Given the description of an element on the screen output the (x, y) to click on. 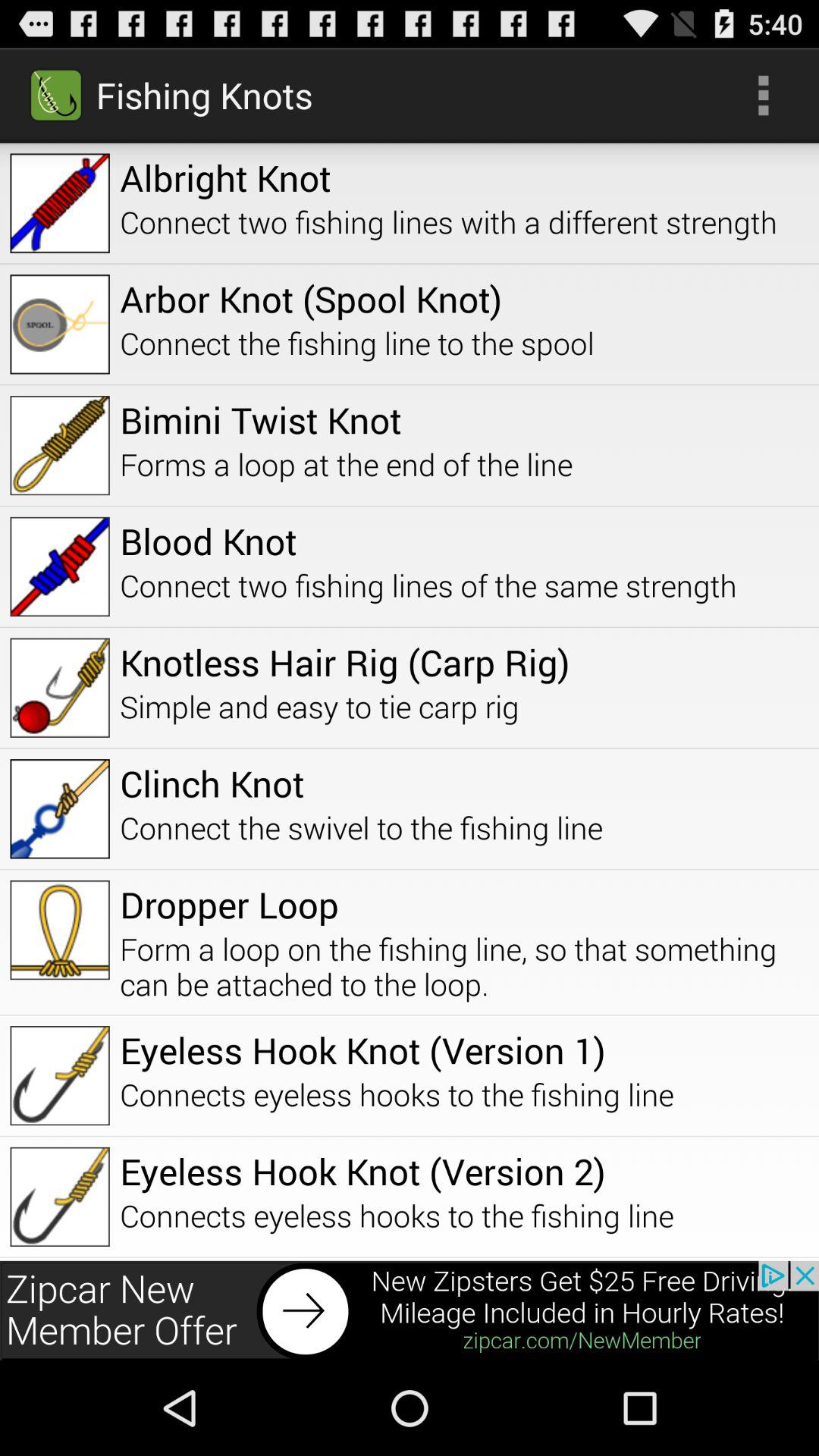
go to advertisement (409, 1310)
